Given the description of an element on the screen output the (x, y) to click on. 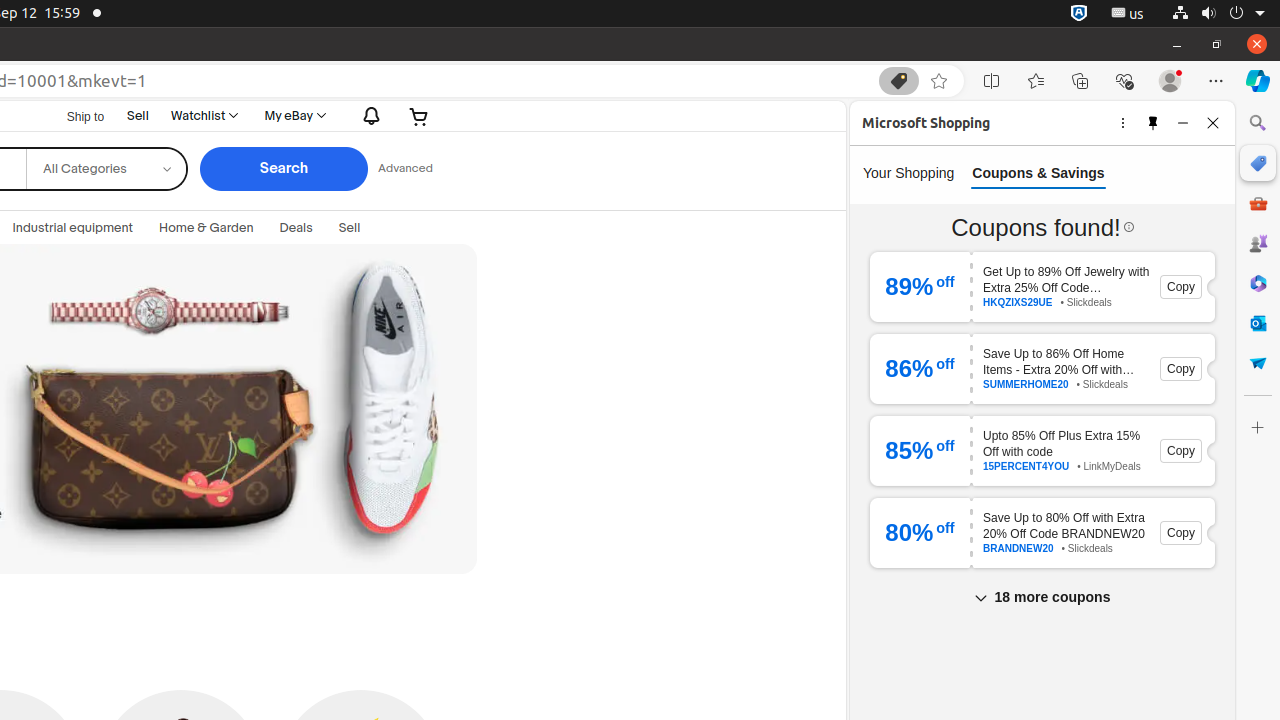
86 % off Save Up to 86% Off Home Items - Extra 20% Off with SUMMERHOME20 Code SUMMERHOME20 • Slickdeals Copy Element type: push-button (1042, 369)
Profile 1 Profile, Please sign in Element type: push-button (1170, 81)
Microsoft 365 Element type: push-button (1258, 283)
